Given the description of an element on the screen output the (x, y) to click on. 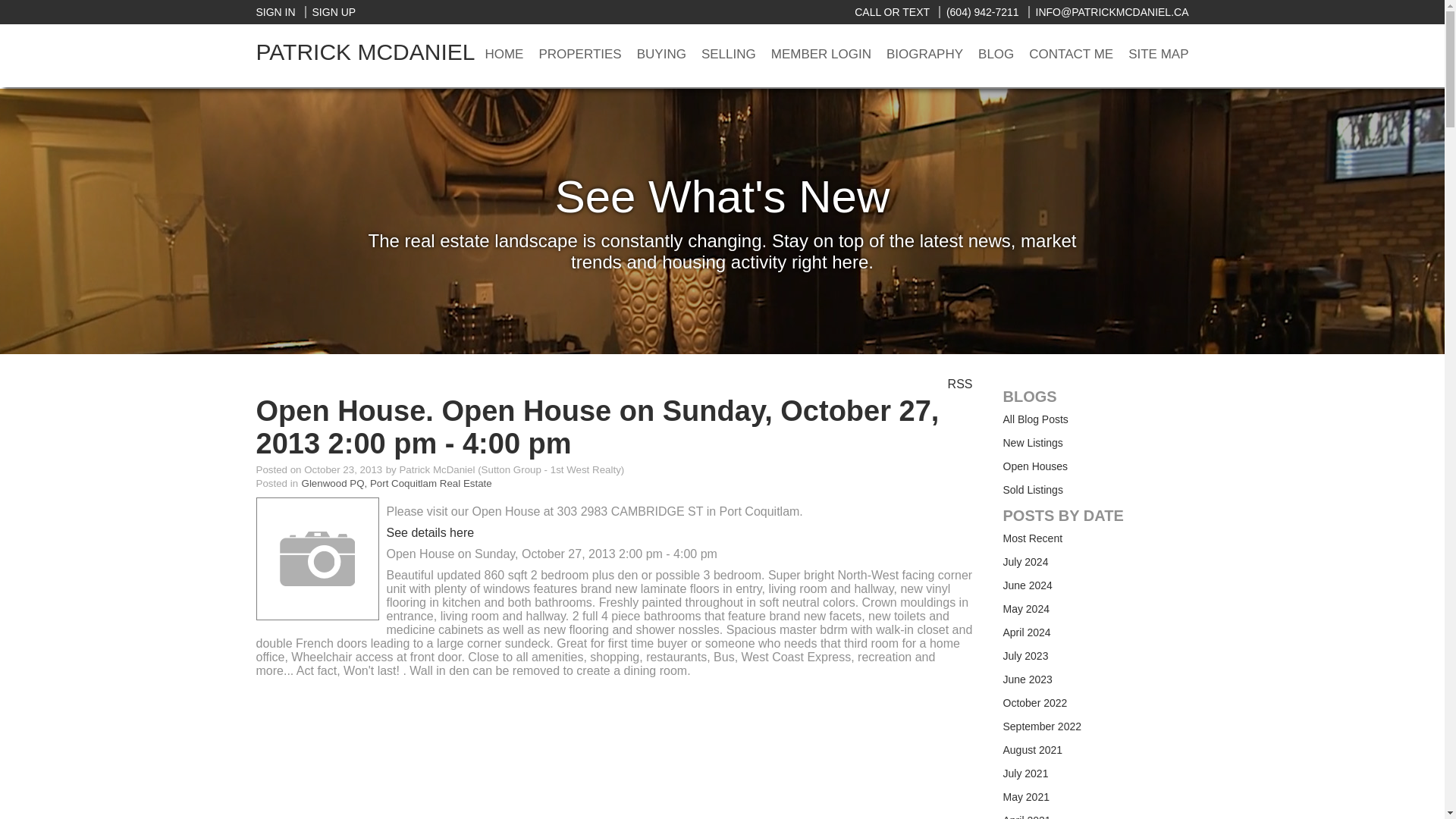
June 2024 (1027, 585)
RSS (959, 382)
All Blog Posts (1035, 419)
SIGN UP (330, 11)
BIOGRAPHY (925, 54)
Most Recent (1032, 538)
MEMBER LOGIN (820, 54)
July 2024 (1025, 562)
SITE MAP (1158, 54)
Sold Listings (1032, 490)
CONTACT ME (1071, 54)
SIGN IN (275, 11)
Glenwood PQ, Port Coquitlam Real Estate (396, 482)
New Listings (1032, 442)
July 2021 (1025, 773)
